Given the description of an element on the screen output the (x, y) to click on. 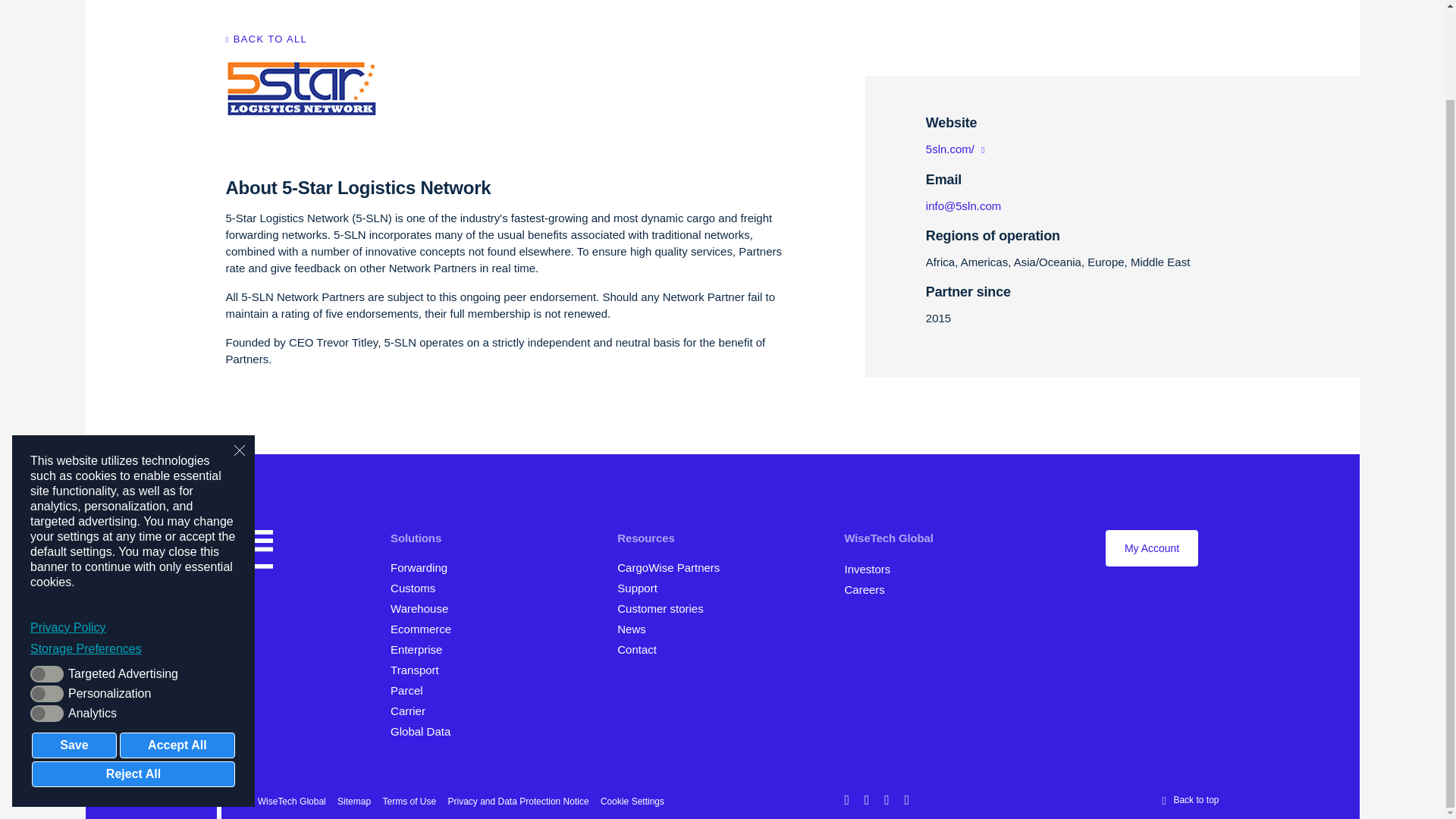
CargoWise Carrier (414, 710)
CargoWise Global Data (425, 730)
Contact (641, 649)
Find a Partner (673, 567)
Privacy Policy (132, 525)
Customer Stories (667, 608)
CargoWise Parcel (413, 689)
Global Trade Management and Compliance (417, 587)
Reject All (133, 671)
WiseTech Global (893, 537)
Investor center (872, 568)
CargoWise Home (249, 552)
Storage Preferences (132, 546)
News (636, 628)
Warehouse Management (424, 608)
